Given the description of an element on the screen output the (x, y) to click on. 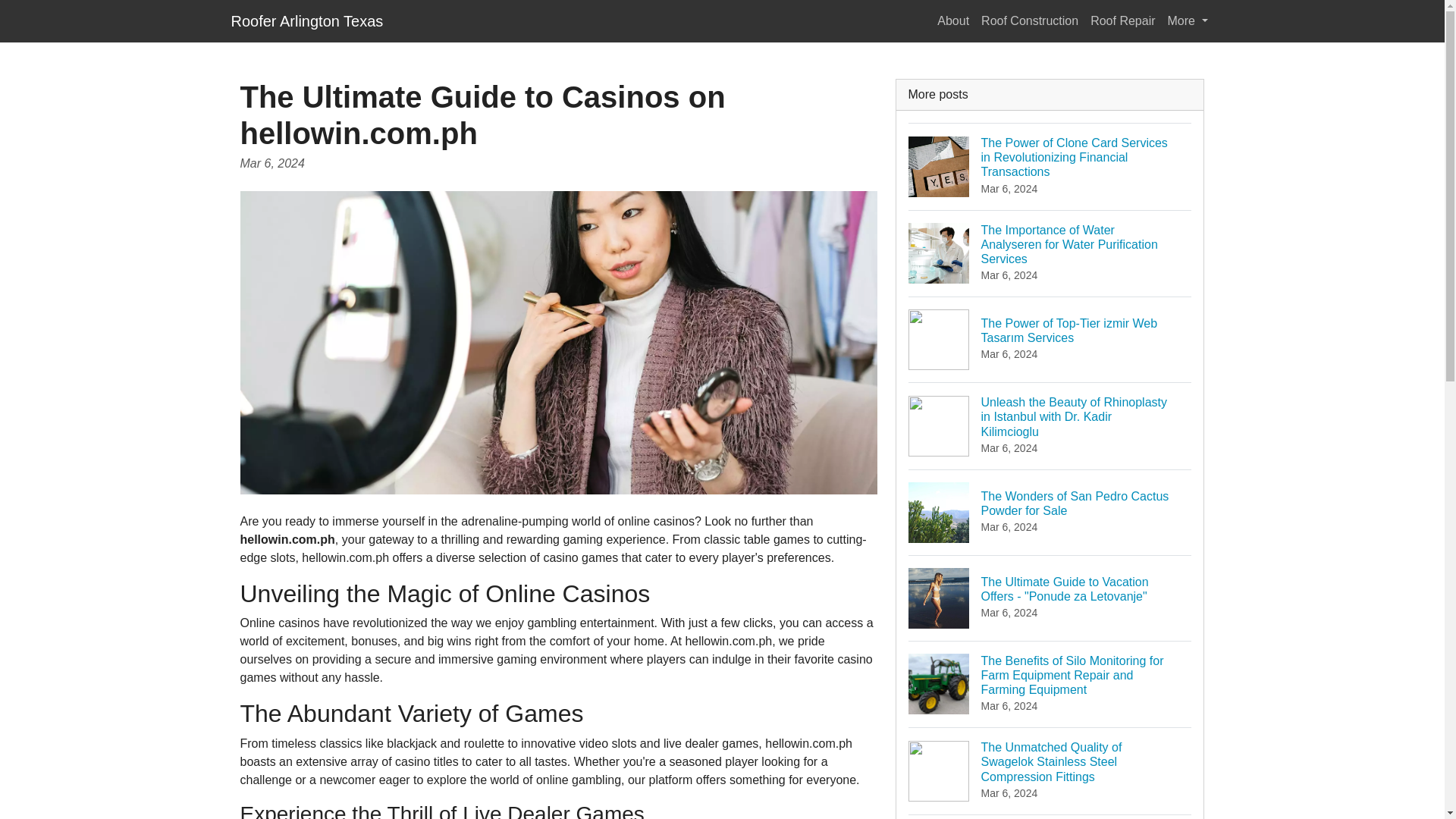
Roof Repair (1122, 20)
About (1050, 512)
Roofer Arlington Texas (953, 20)
Roof Construction (306, 20)
